Given the description of an element on the screen output the (x, y) to click on. 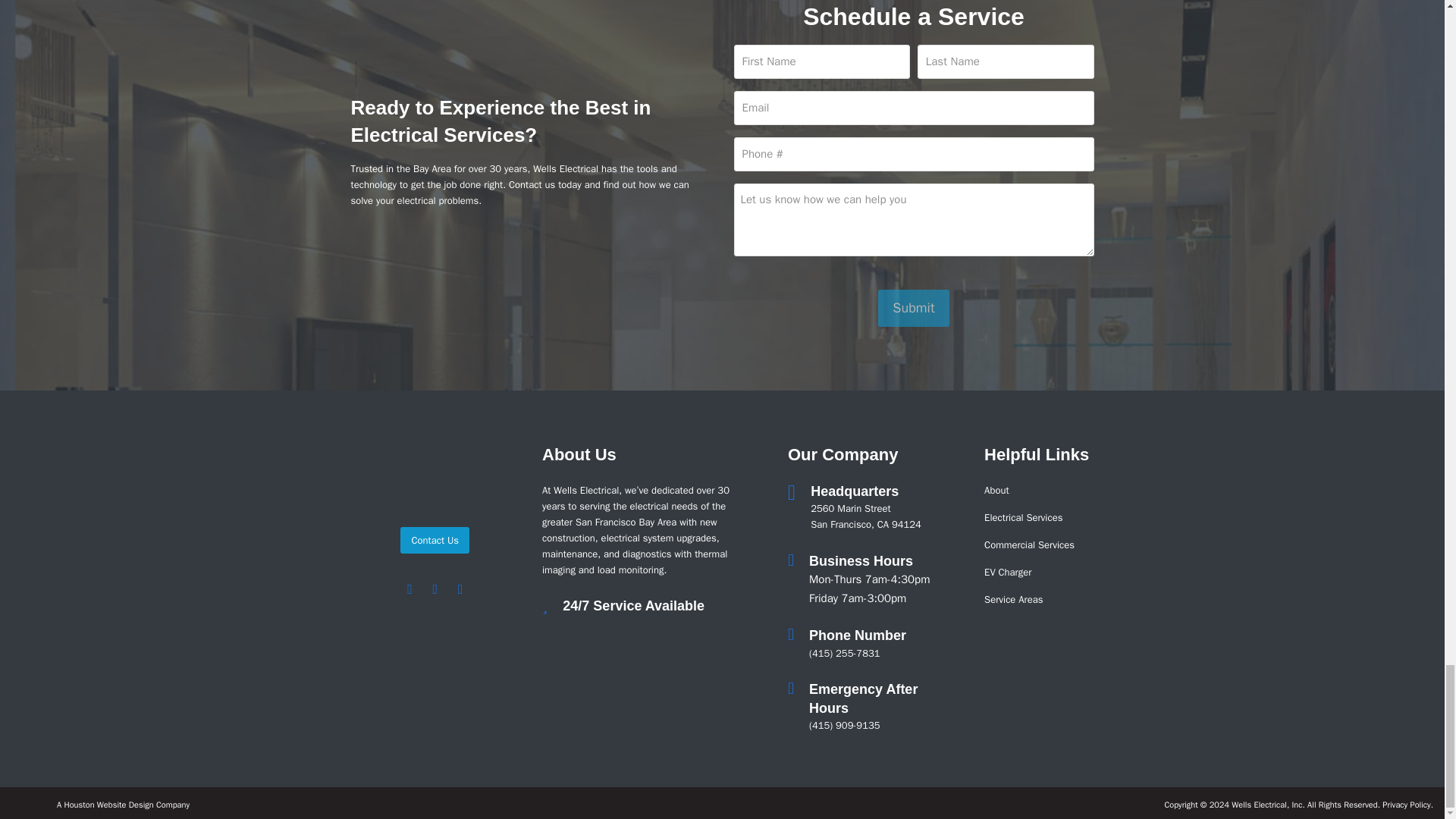
LinkedIn (458, 588)
Yelp (409, 588)
Facebook (434, 588)
Submit (913, 307)
